Given the description of an element on the screen output the (x, y) to click on. 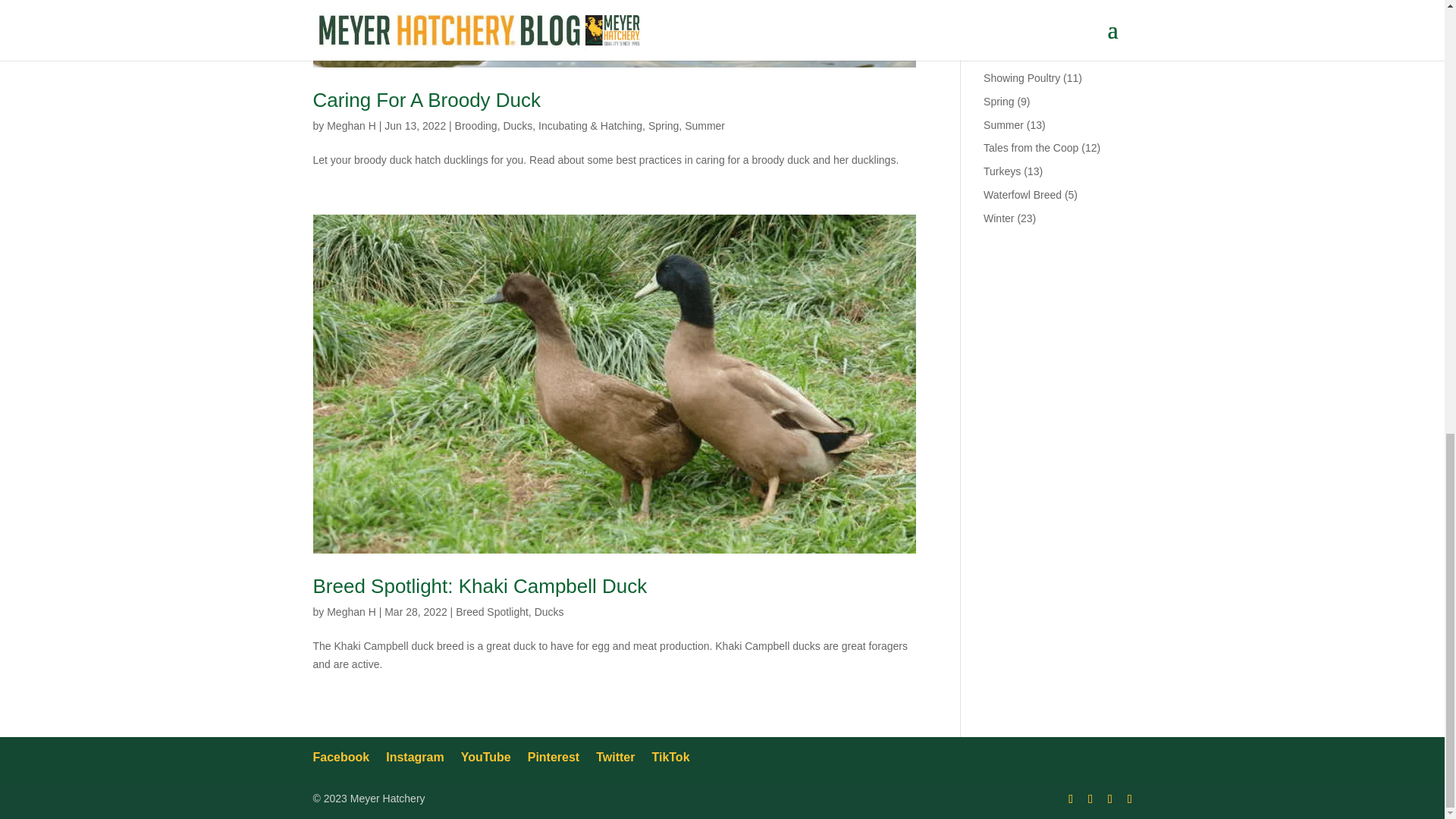
Posts by Meghan H (350, 125)
Posts by Meghan H (350, 612)
Caring For A Broody Duck (426, 99)
Meghan H (350, 125)
